Given the description of an element on the screen output the (x, y) to click on. 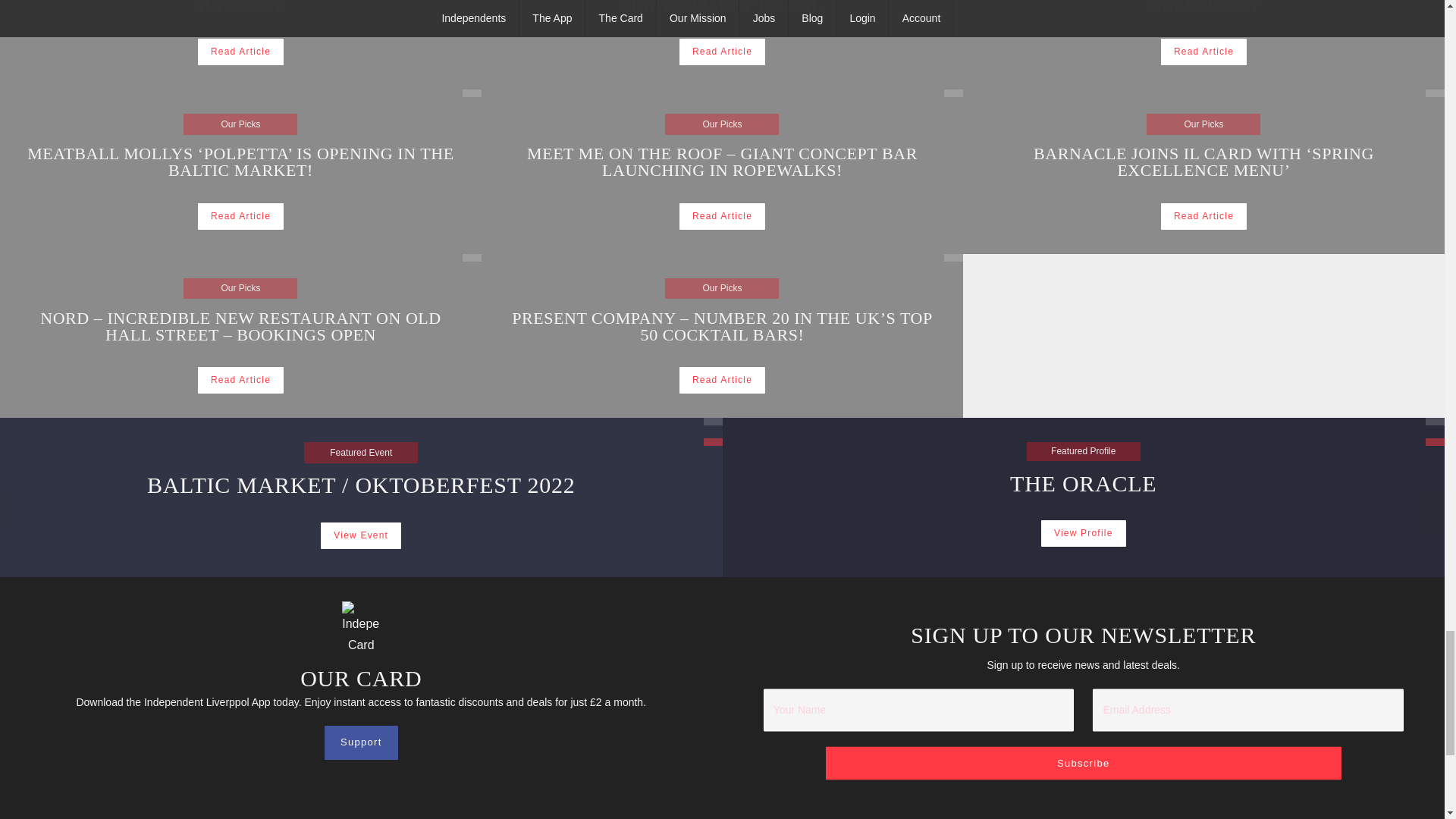
Read Article (722, 216)
Subscribe (1082, 763)
View All Posts (472, 257)
View All Posts (952, 93)
Read Article (240, 51)
Read Article (1204, 17)
View All Posts (1203, 51)
Read Article (472, 93)
View All Posts (240, 216)
